Given the description of an element on the screen output the (x, y) to click on. 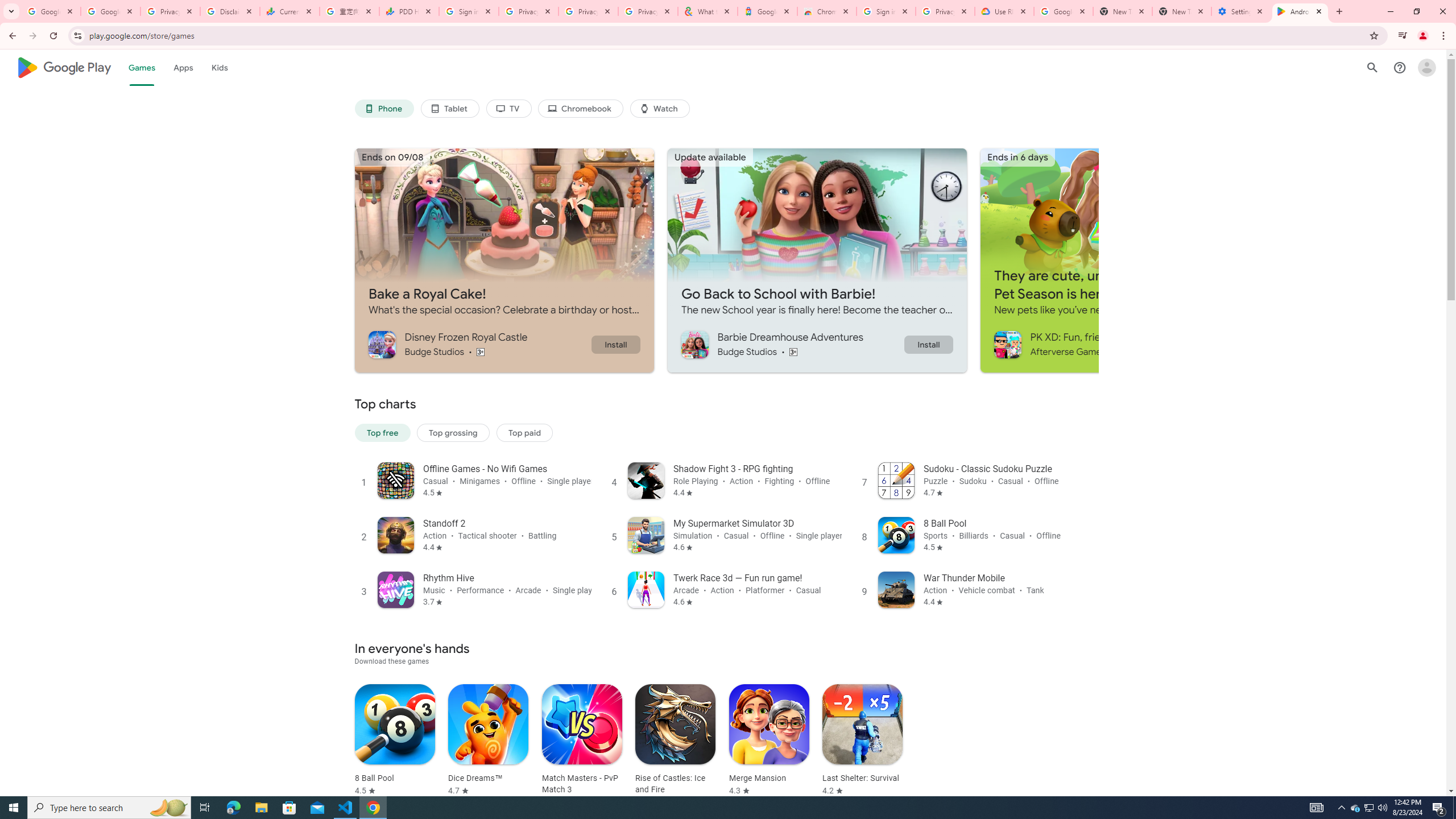
Transform (59, 567)
Line up (1448, 87)
